Given the description of an element on the screen output the (x, y) to click on. 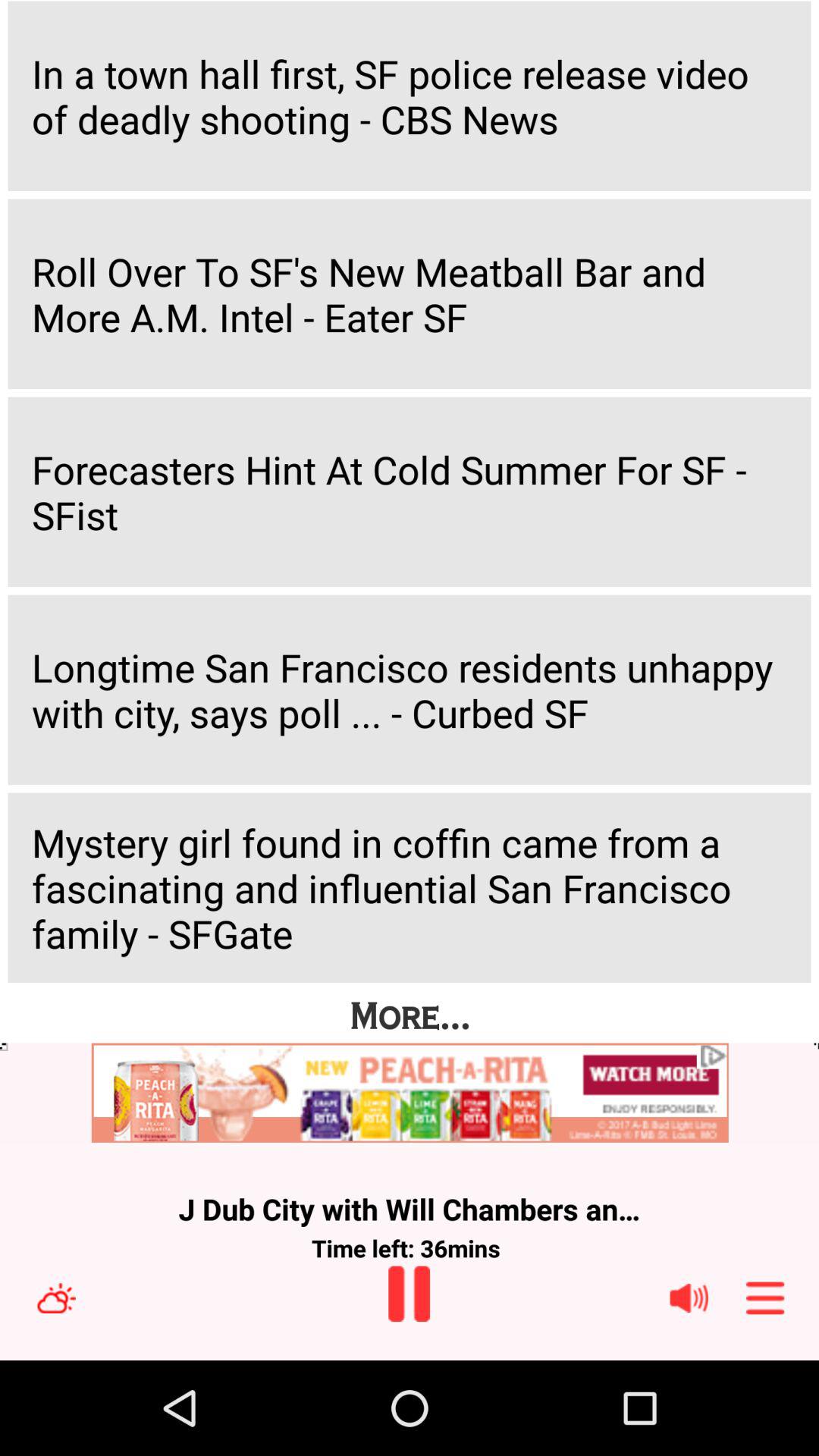
speaker (688, 1298)
